Given the description of an element on the screen output the (x, y) to click on. 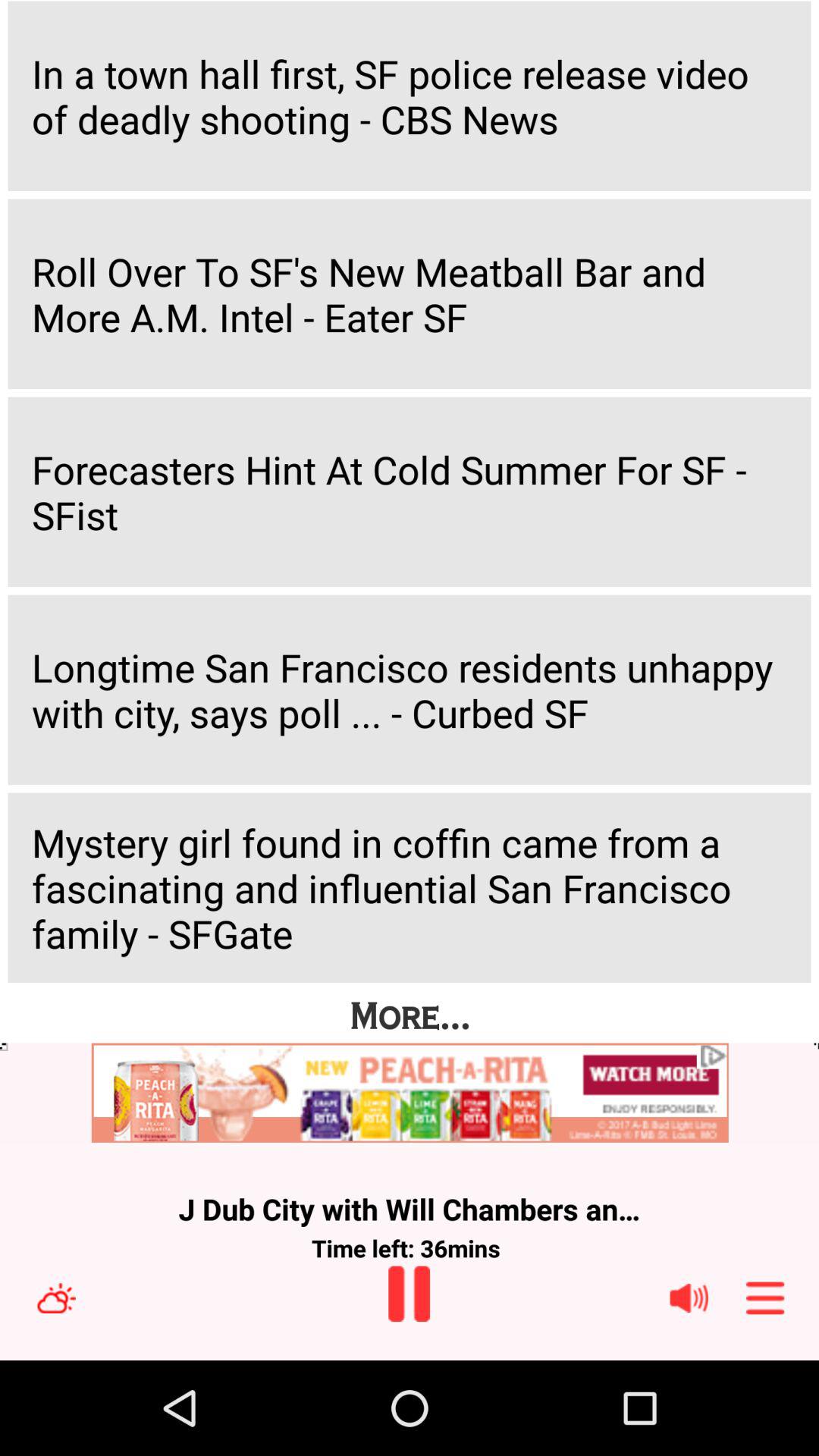
speaker (688, 1298)
